Given the description of an element on the screen output the (x, y) to click on. 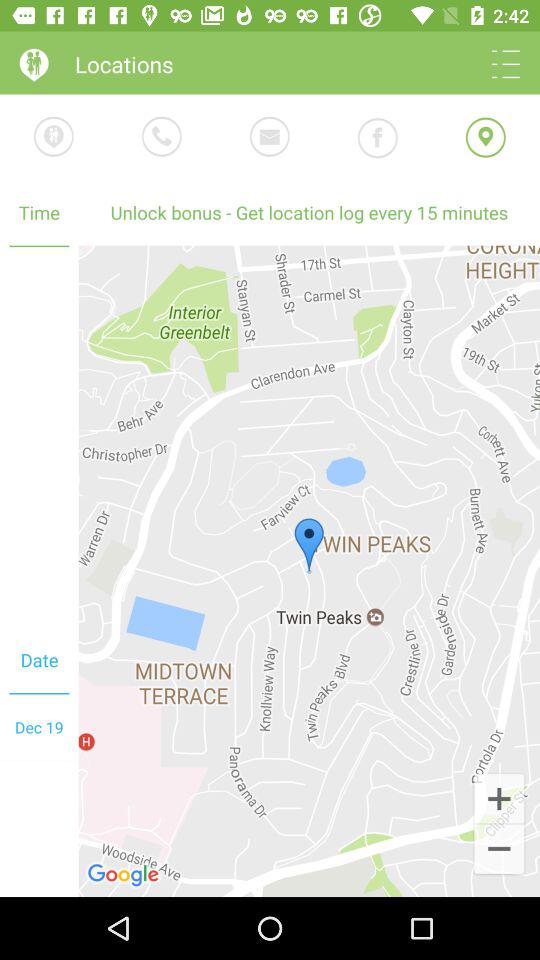
scroll to the unlock bonus get item (309, 212)
